Given the description of an element on the screen output the (x, y) to click on. 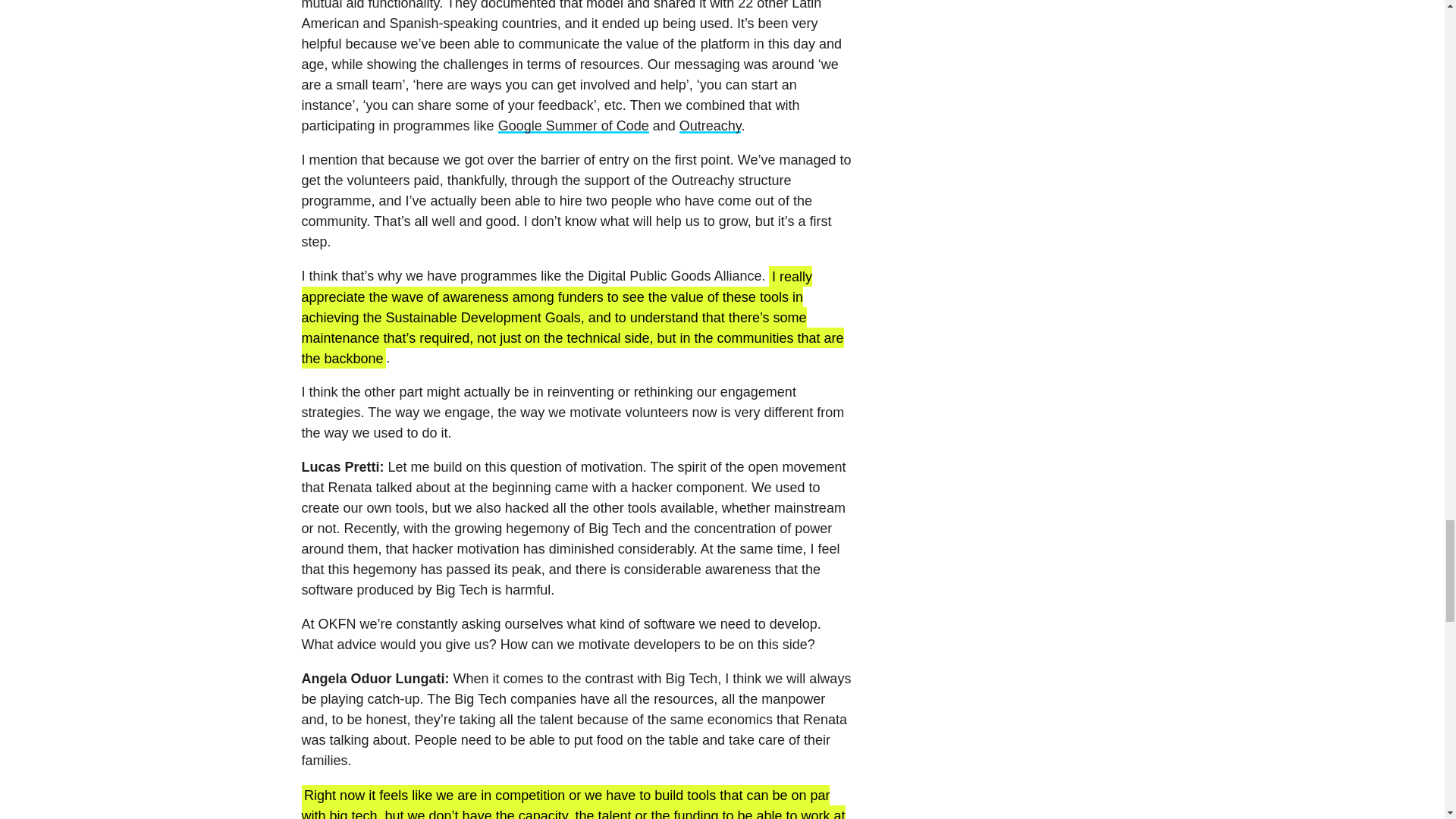
Outreachy (710, 125)
Google Summer of Code (573, 125)
